Given the description of an element on the screen output the (x, y) to click on. 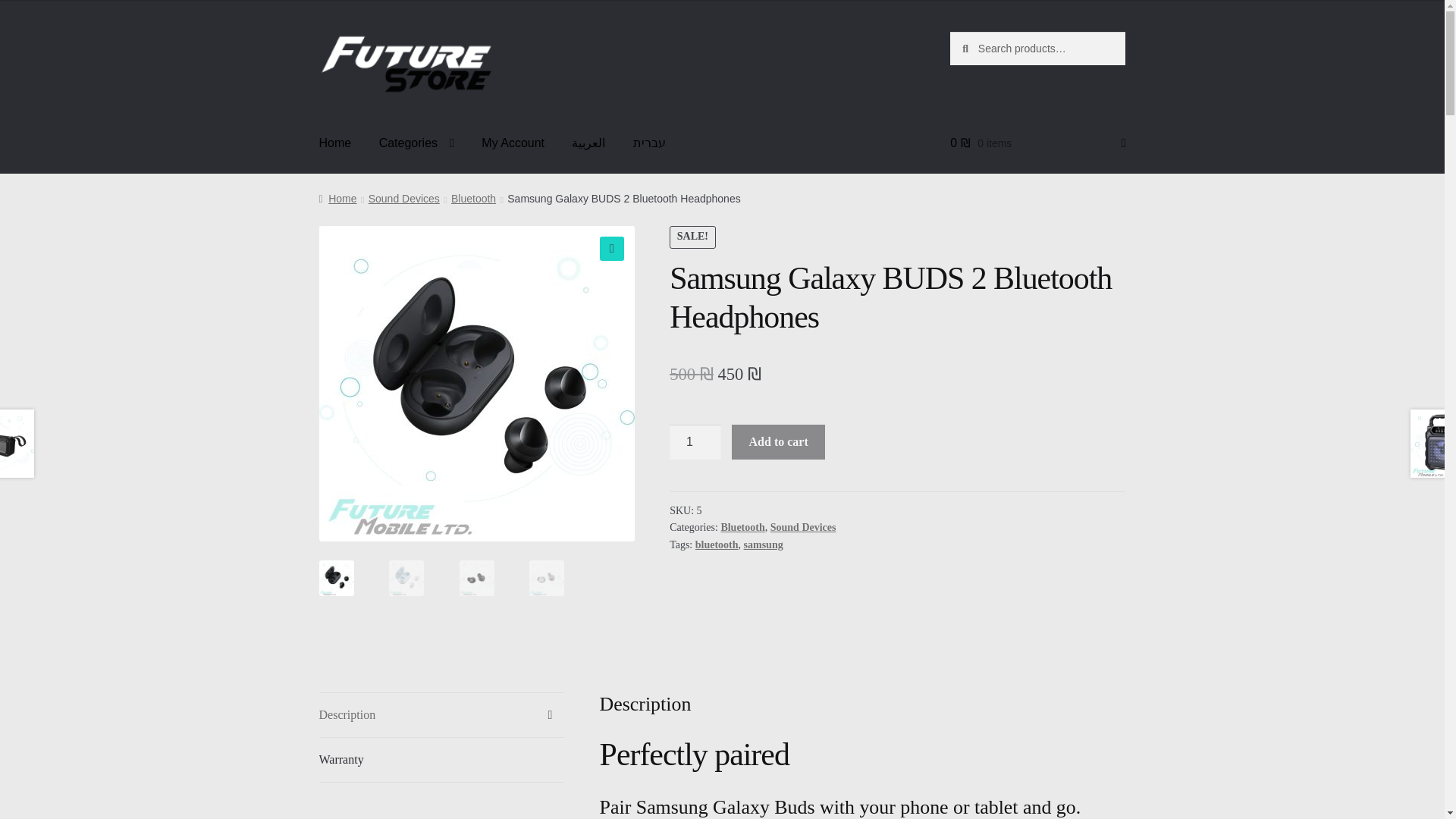
Categories (415, 142)
buds-plus (792, 383)
1 (694, 442)
buds-plus-black (476, 383)
Home (335, 142)
View your shopping cart (1037, 142)
